Given the description of an element on the screen output the (x, y) to click on. 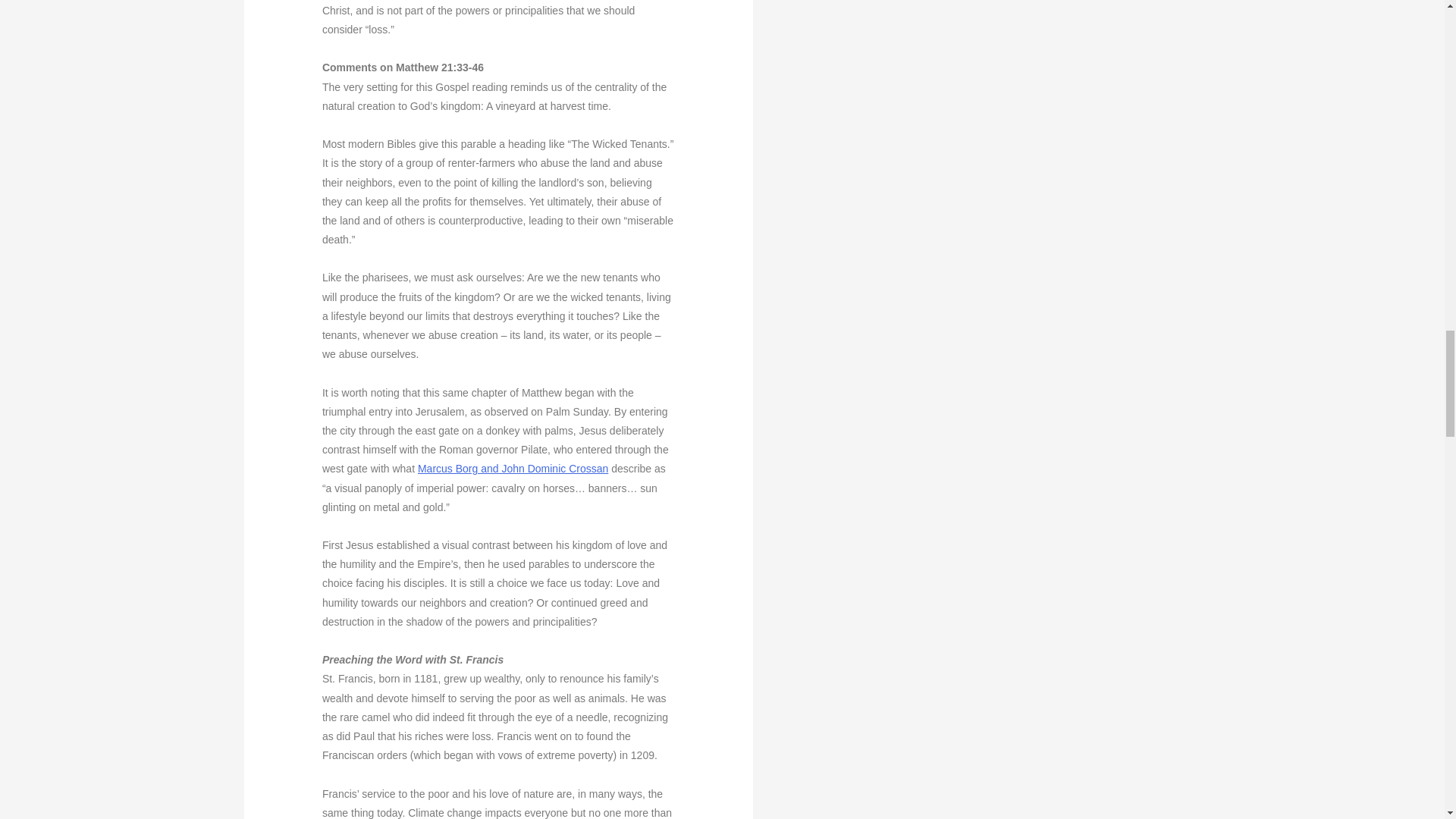
Marcus Borg and John Dominic Crossan (512, 468)
